Given the description of an element on the screen output the (x, y) to click on. 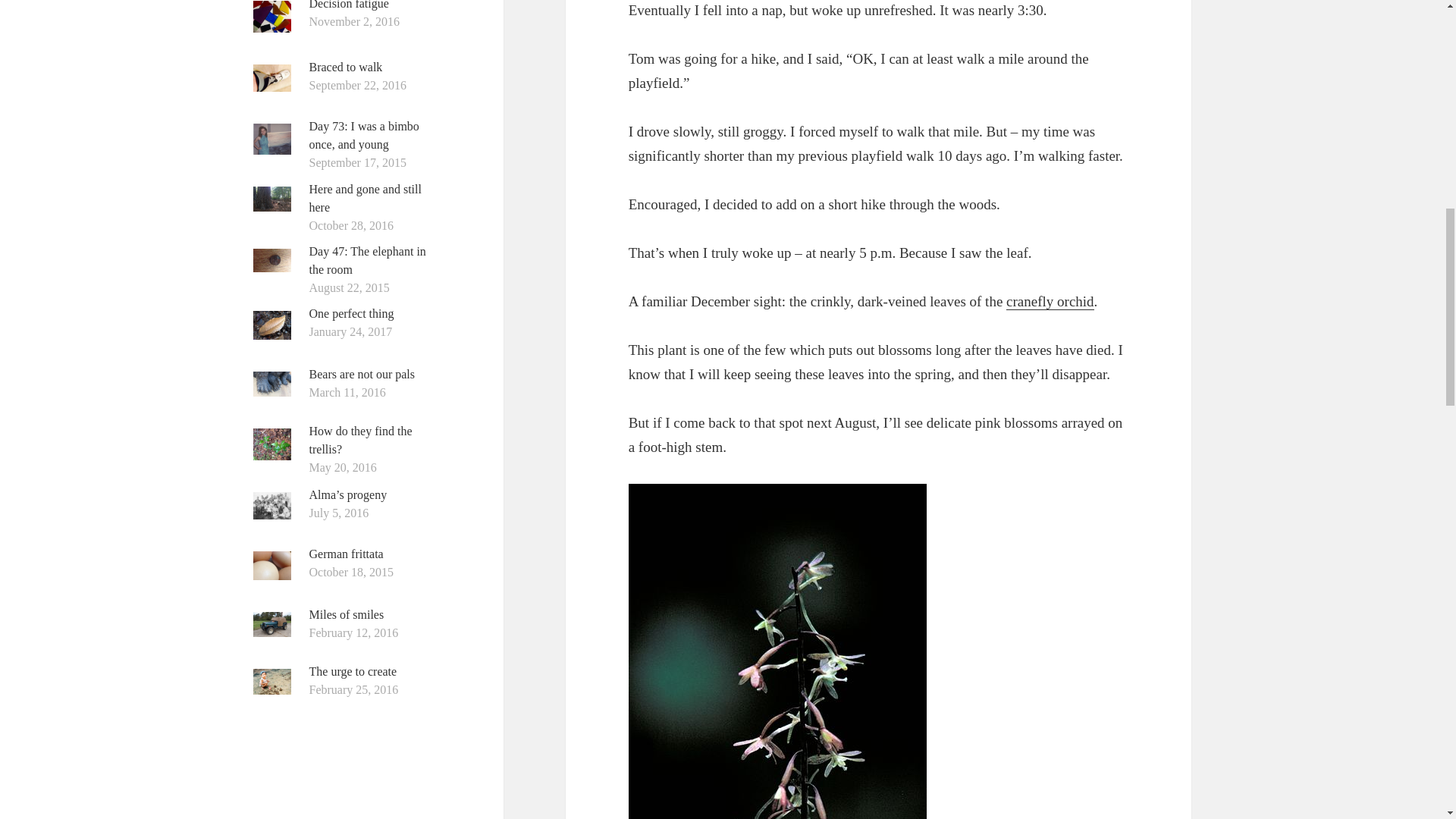
Here and gone and still here (365, 197)
Day 73: I was a bimbo once, and young (363, 134)
German frittata (346, 553)
One perfect thing (351, 313)
Bears are not our pals (361, 373)
Decision fatigue (348, 4)
Day 47: The elephant in the room (367, 260)
Braced to walk (345, 66)
How do they find the trellis? (360, 440)
